Given the description of an element on the screen output the (x, y) to click on. 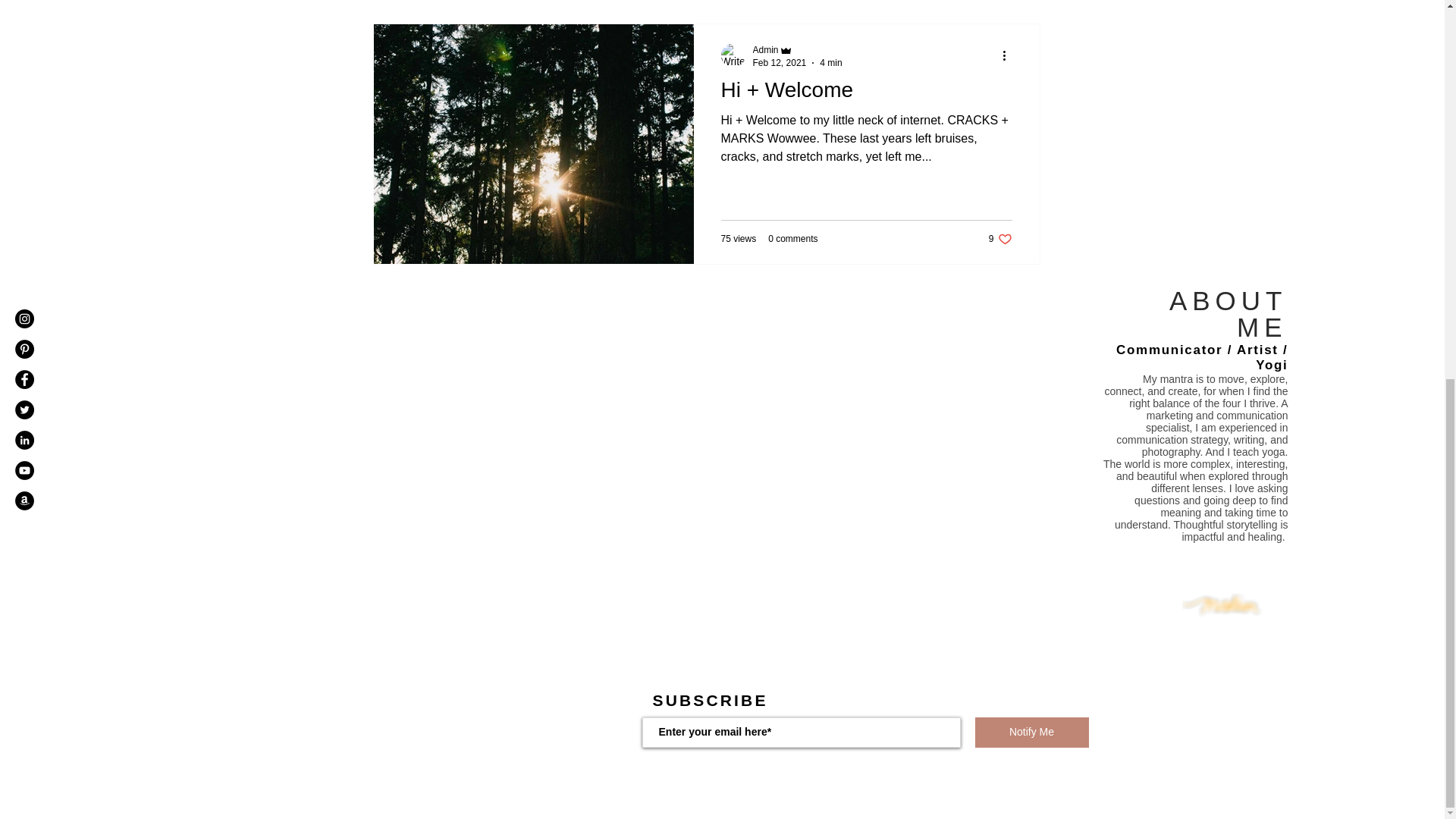
Feb 12, 2021 (779, 62)
4 min (830, 62)
0 comments (792, 238)
Notify Me (1032, 732)
Admin (999, 238)
Admin (796, 49)
